Given the description of an element on the screen output the (x, y) to click on. 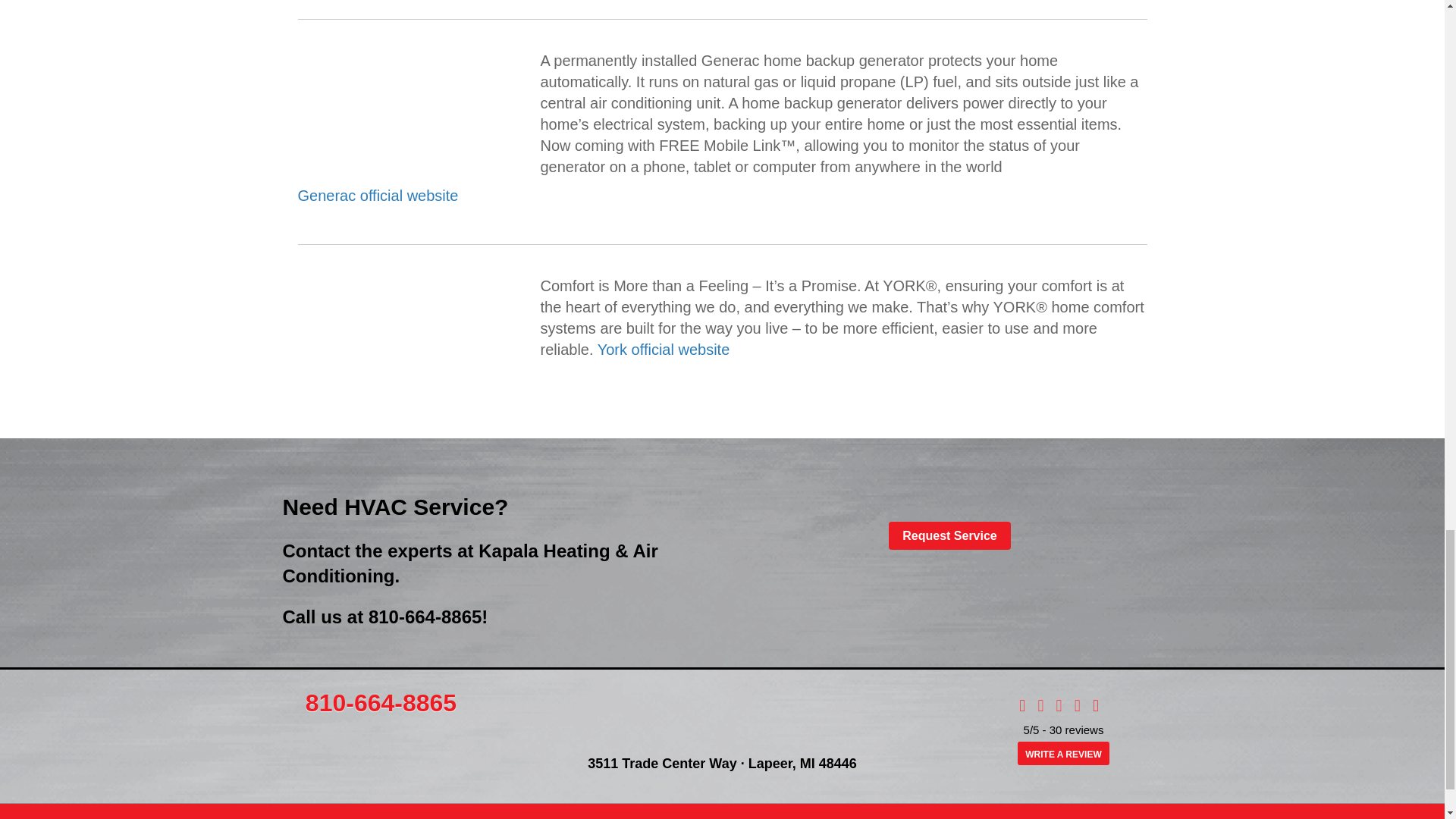
KAP-Logo (721, 715)
